Given the description of an element on the screen output the (x, y) to click on. 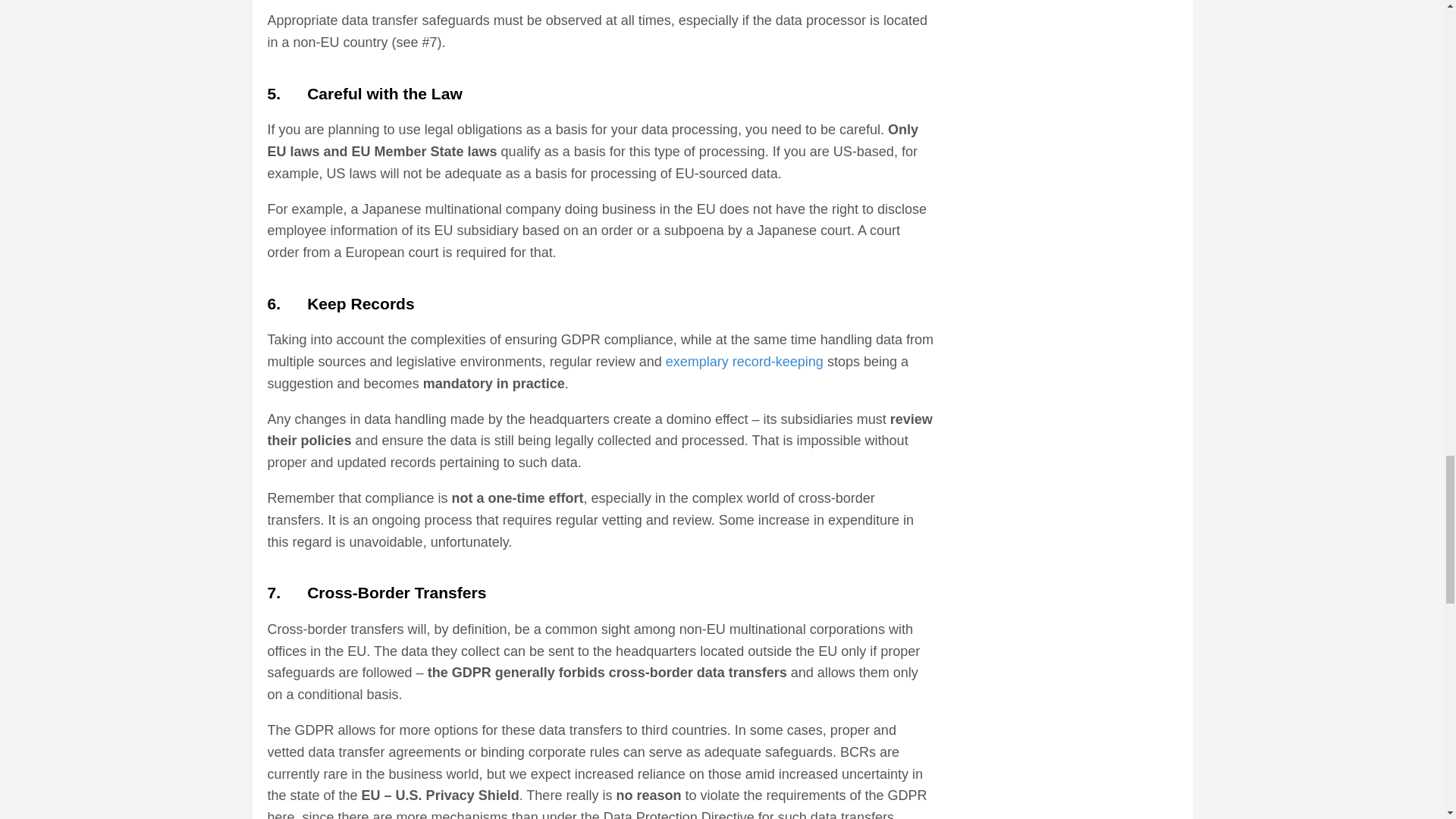
exemplary record-keeping (744, 361)
